Given the description of an element on the screen output the (x, y) to click on. 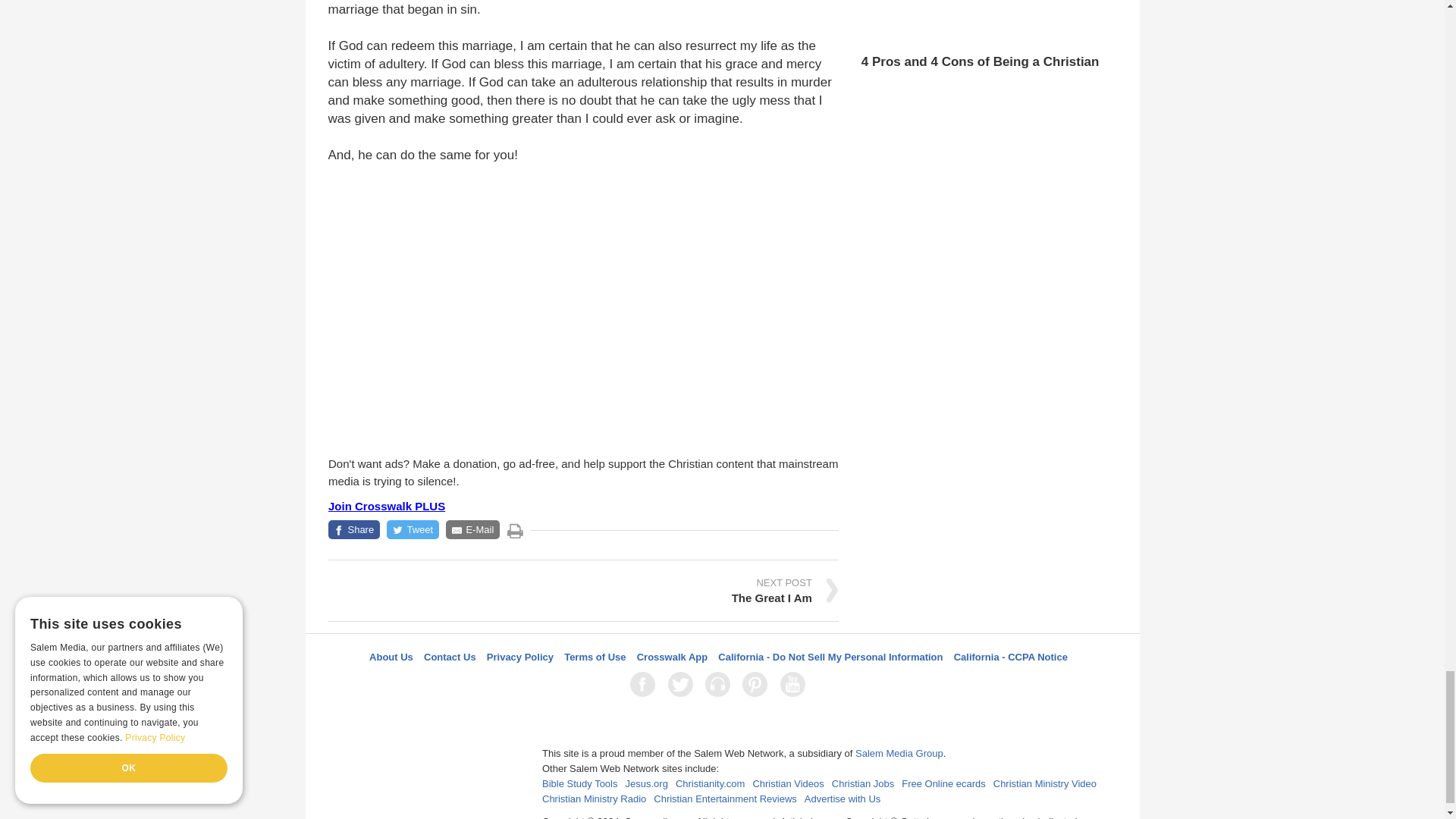
Facebook (645, 683)
Twitter (683, 683)
Pinterest (757, 683)
LifeAudio (719, 683)
